Given the description of an element on the screen output the (x, y) to click on. 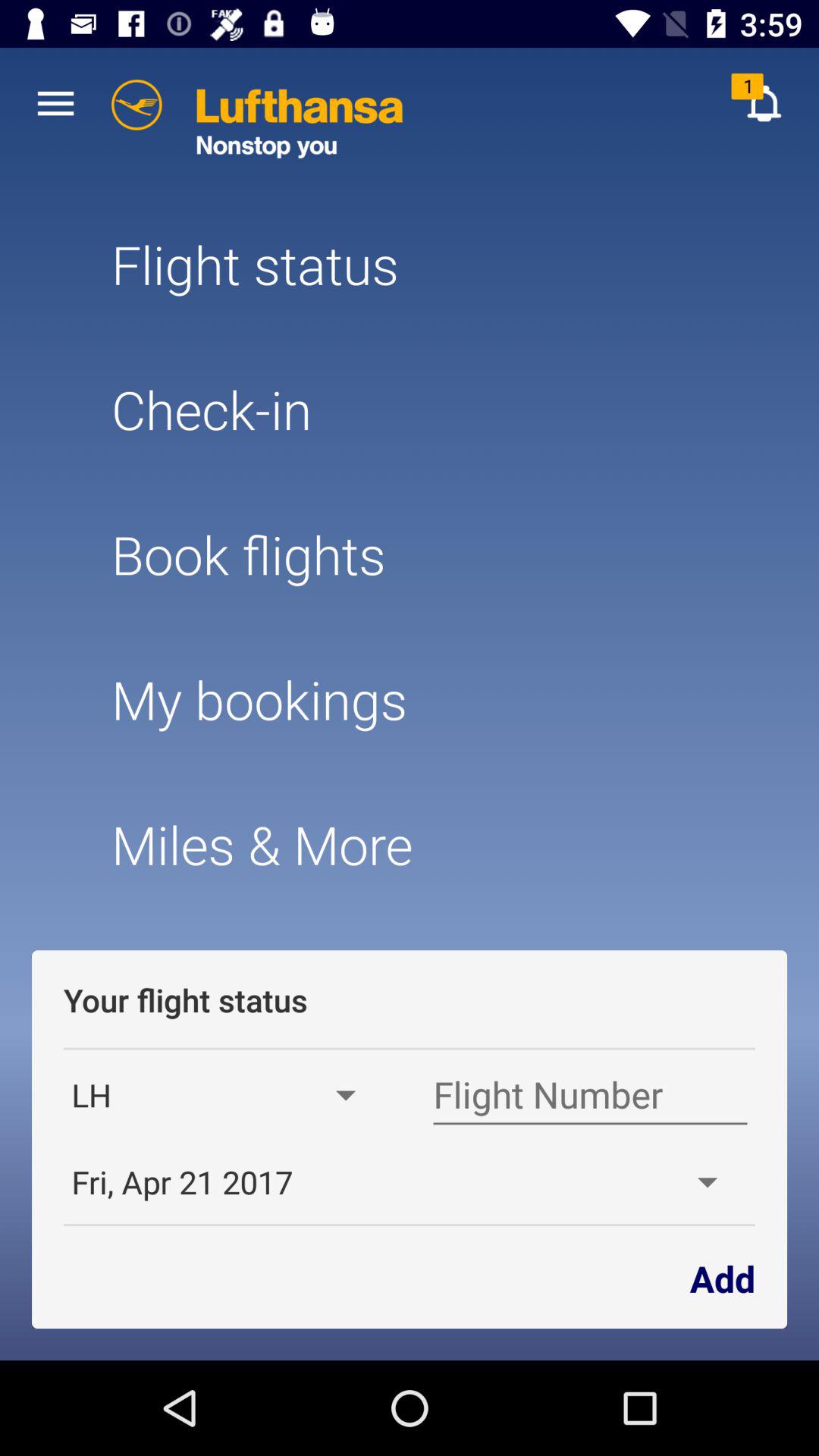
scroll to miles & more (409, 844)
